Given the description of an element on the screen output the (x, y) to click on. 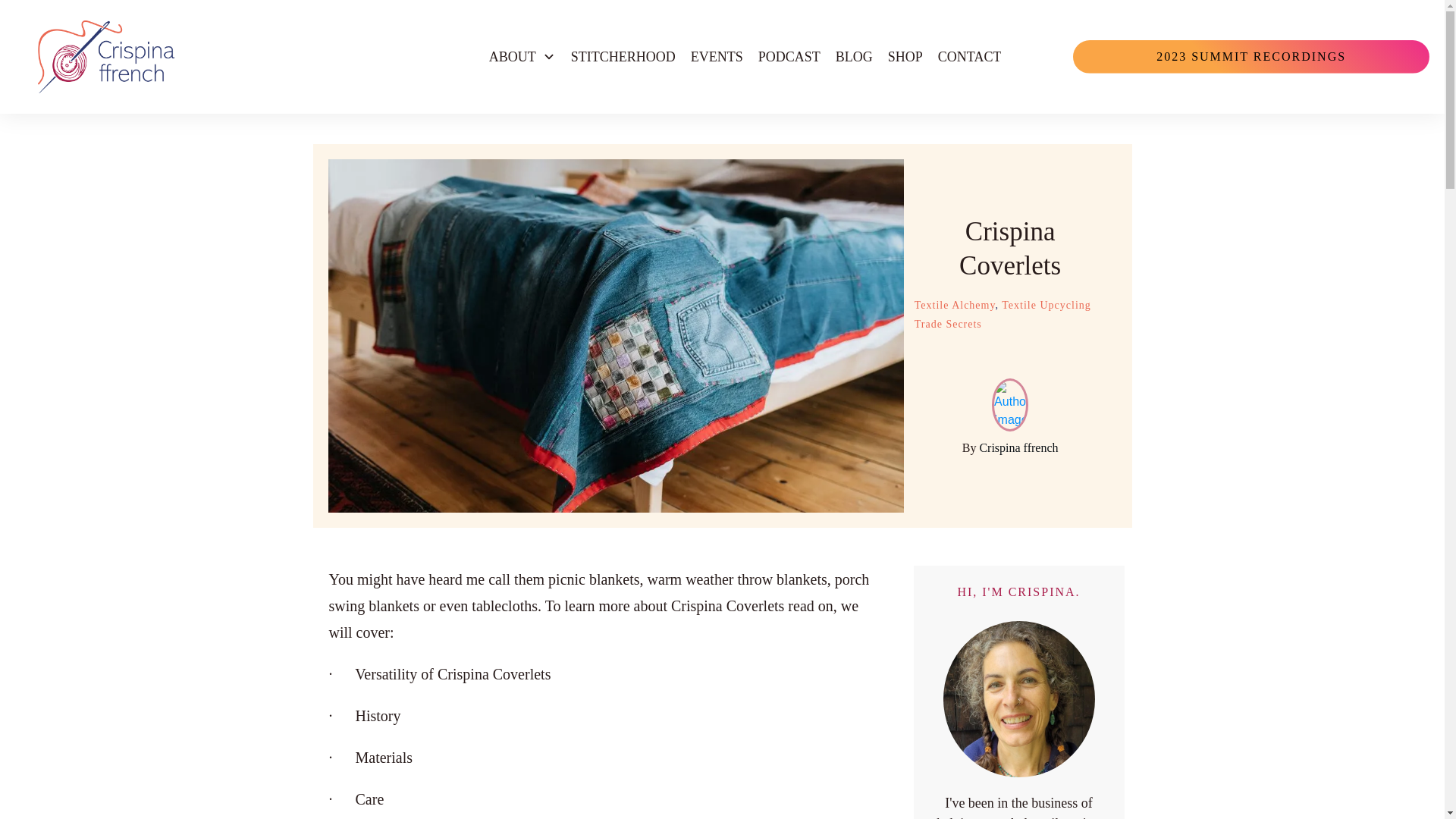
Textile Upcycling Trade Secrets (1002, 314)
CONTACT (969, 56)
BLOG (853, 56)
Textile Alchemy (954, 305)
EVENTS (716, 56)
SHOP (905, 56)
STITCHERHOOD (622, 56)
PODCAST (789, 56)
ABOUT (522, 56)
2023 SUMMIT RECORDINGS (1251, 56)
